Given the description of an element on the screen output the (x, y) to click on. 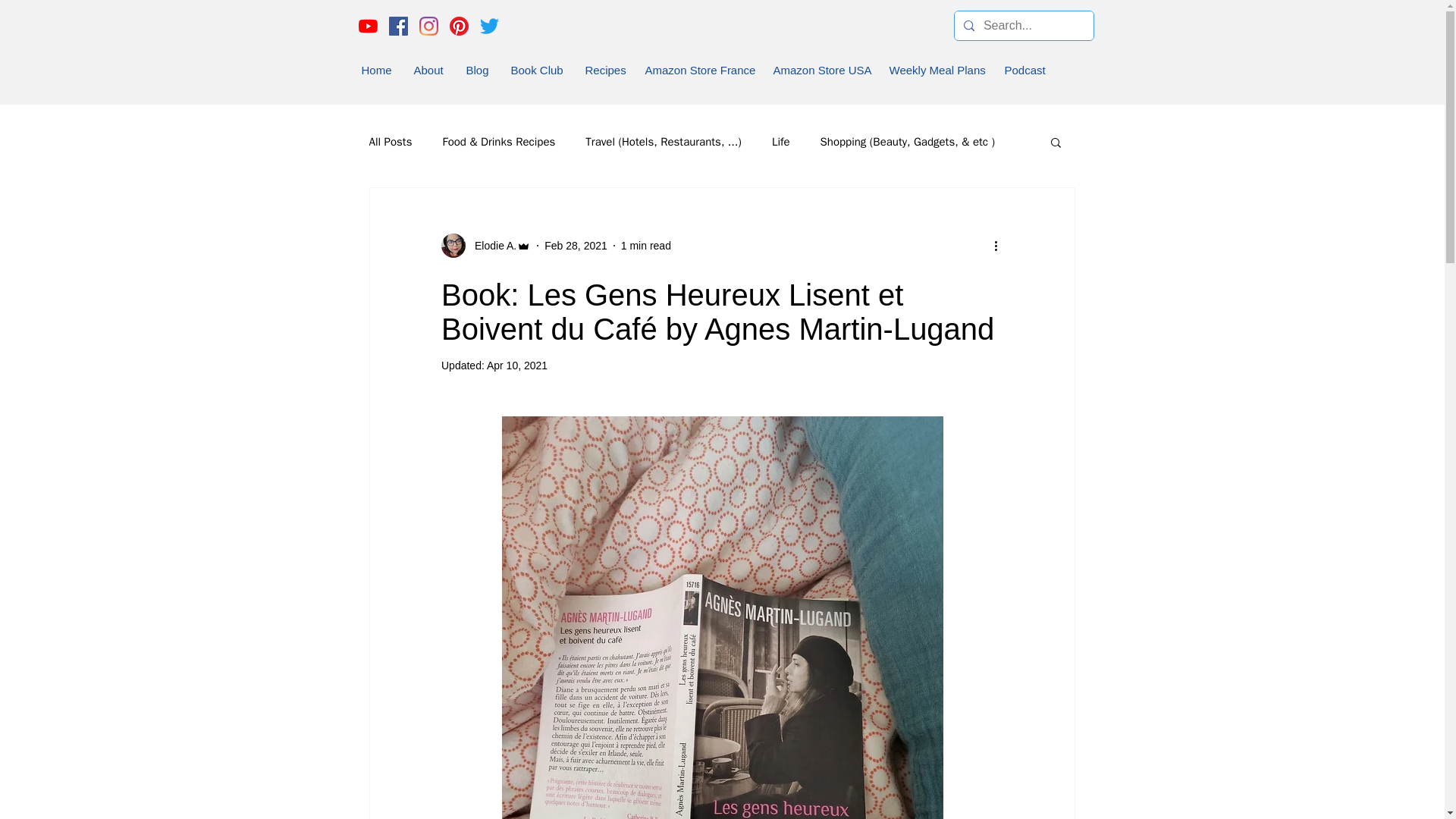
Amazon Store USA (820, 69)
Blog (476, 69)
Home (376, 69)
Life (780, 142)
Book Club (537, 69)
Feb 28, 2021 (575, 245)
Elodie A. (490, 245)
Recipes (604, 69)
Amazon Store France (697, 69)
1 min read (646, 245)
Weekly Meal Plans (934, 69)
Apr 10, 2021 (516, 365)
All Posts (390, 142)
Podcast (1023, 69)
About (429, 69)
